Given the description of an element on the screen output the (x, y) to click on. 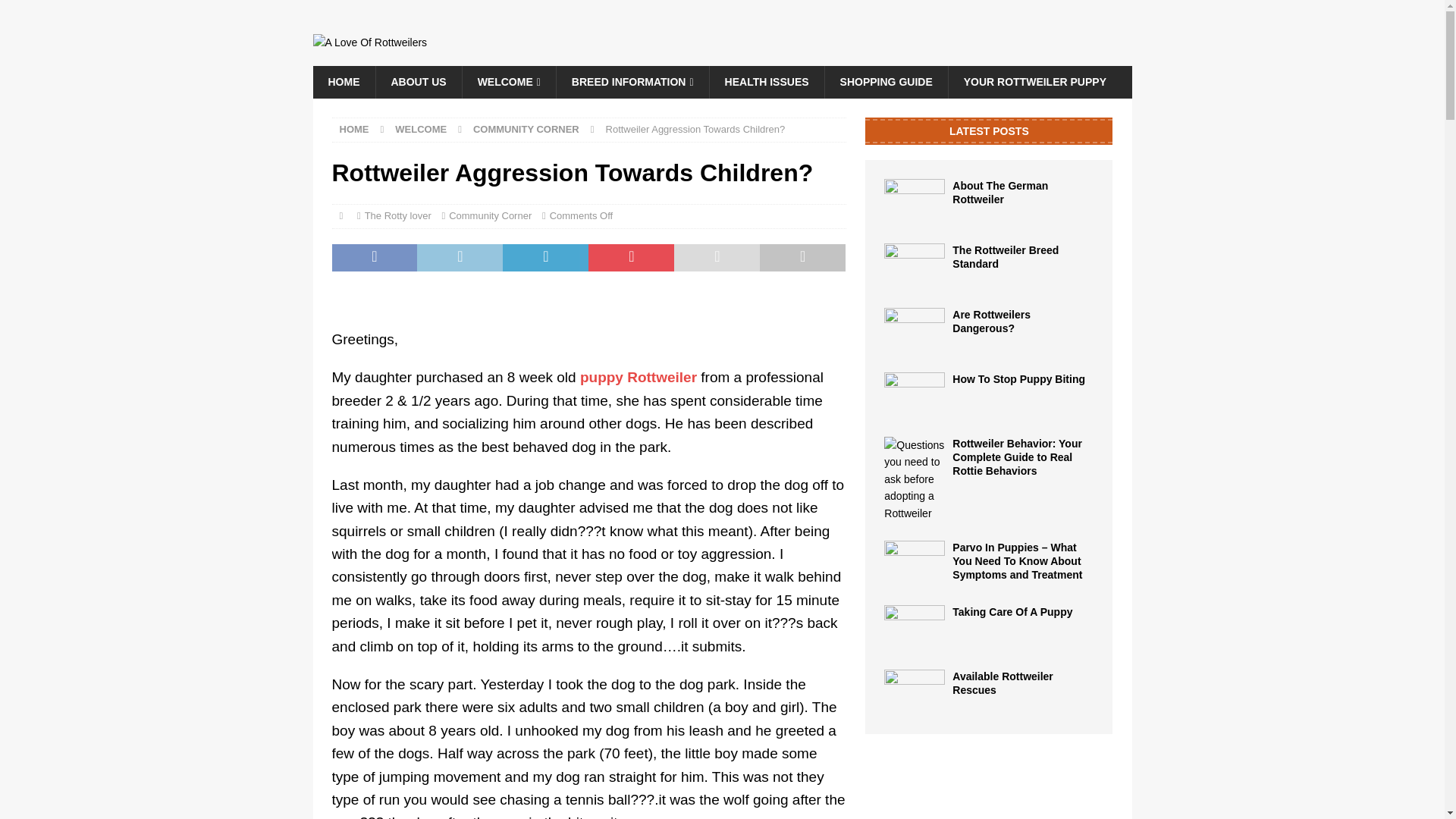
The Rottweiler Breed Standard (1005, 257)
ABOUT US (417, 81)
How To Stop Puppy Biting (1018, 378)
The Rotty lover (397, 215)
WELCOME (420, 129)
Are Rottweilers Dangerous? (991, 321)
The Rottweiler Breed Standard (913, 266)
BREED INFORMATION (632, 81)
Are Rottweilers Dangerous? (913, 329)
SHOPPING GUIDE (885, 81)
